Given the description of an element on the screen output the (x, y) to click on. 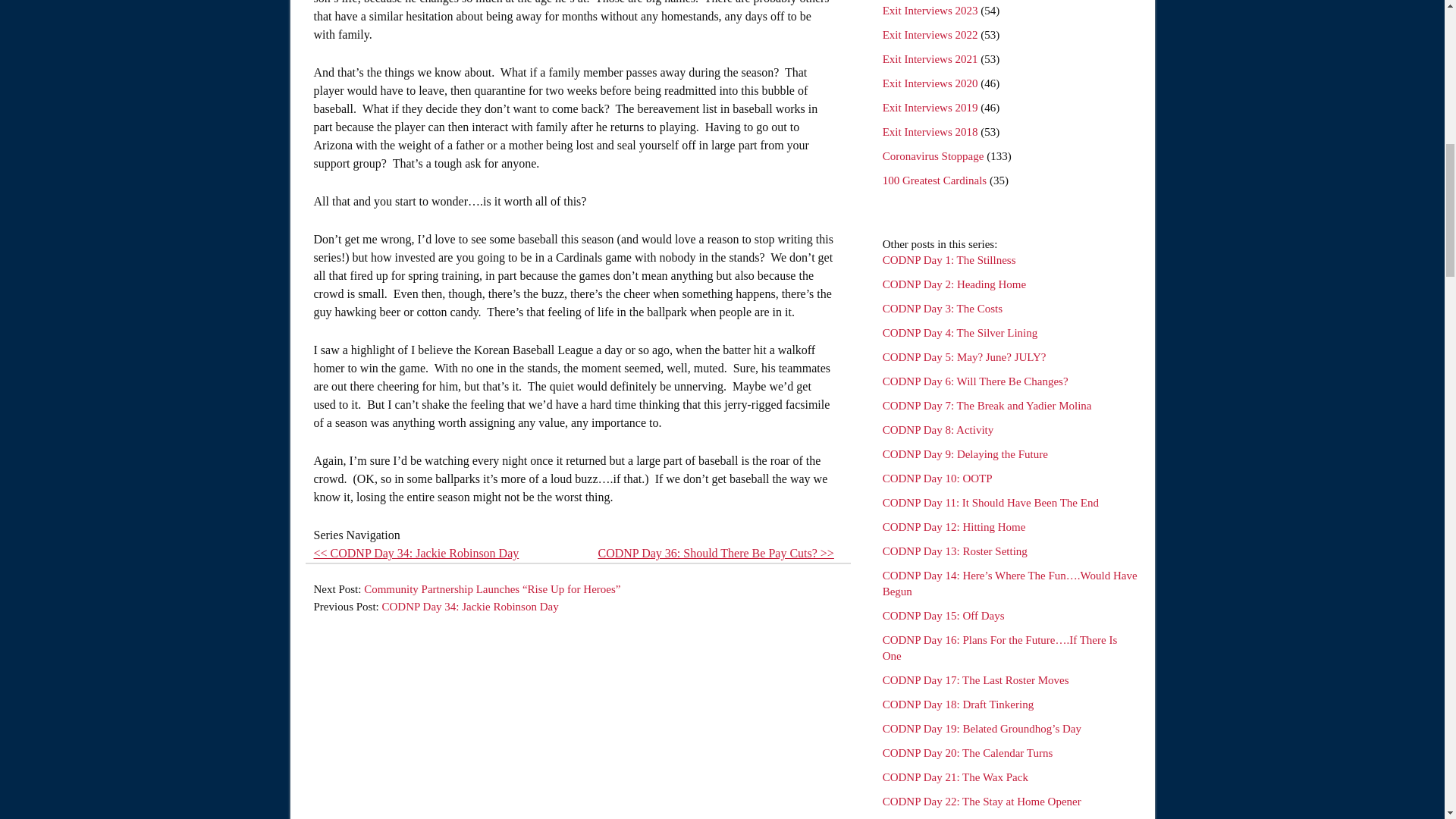
CODNP Day 4: The Silver Lining (960, 332)
CODNP Day 7: The Break and Yadier Molina (987, 405)
CODNP Day 5: May? June? JULY? (964, 357)
CODNP Day 6: Will There Be Changes? (975, 381)
CODNP Day 2: Heading Home (954, 284)
CODNP Day 1: The Stillness (949, 259)
CODNP Day 3: The Costs (942, 308)
CODNP Day 8: Activity (938, 429)
